Given the description of an element on the screen output the (x, y) to click on. 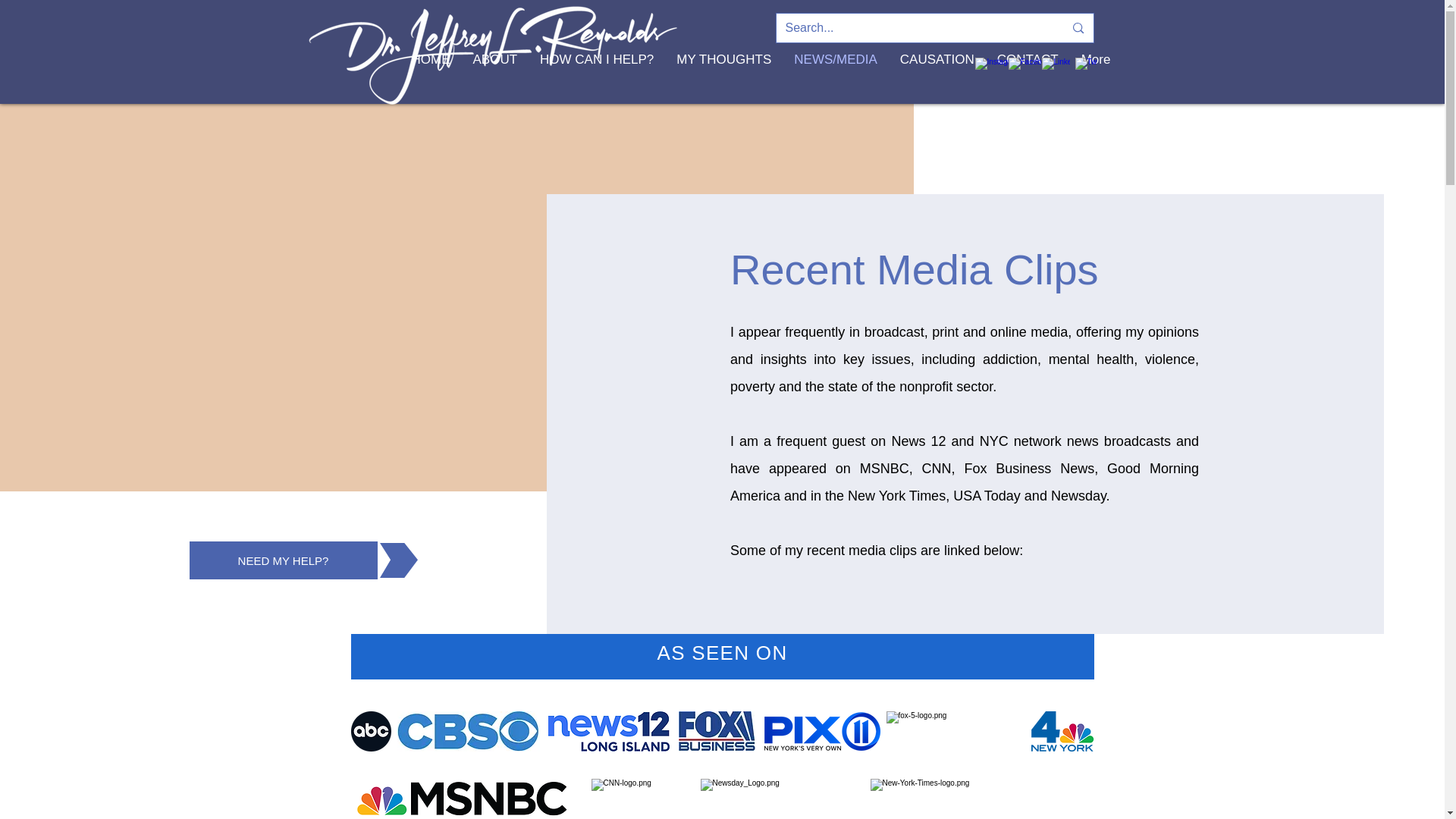
CONTACT (1027, 83)
CAUSATION (936, 83)
ABOUT (494, 83)
HOME (430, 83)
MY THOUGHTS (724, 83)
NEED MY HELP? (283, 560)
HOW CAN I HELP? (596, 83)
